Given the description of an element on the screen output the (x, y) to click on. 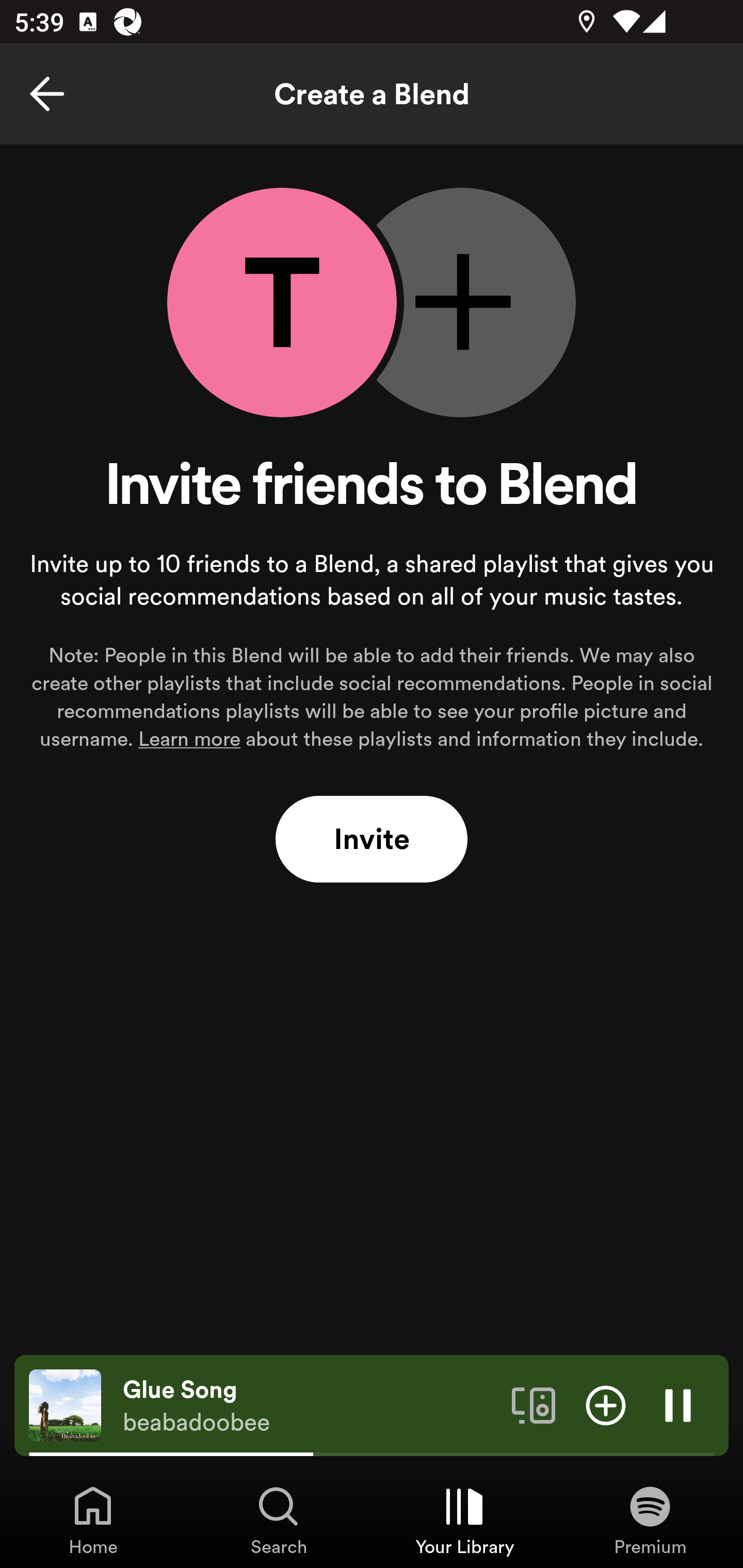
Back (46, 93)
Invite (371, 839)
Glue Song beabadoobee (309, 1405)
The cover art of the currently playing track (64, 1404)
Connect to a device. Opens the devices menu (533, 1404)
Add item (605, 1404)
Pause (677, 1404)
Home, Tab 1 of 4 Home Home (92, 1519)
Search, Tab 2 of 4 Search Search (278, 1519)
Your Library, Tab 3 of 4 Your Library Your Library (464, 1519)
Premium, Tab 4 of 4 Premium Premium (650, 1519)
